Given the description of an element on the screen output the (x, y) to click on. 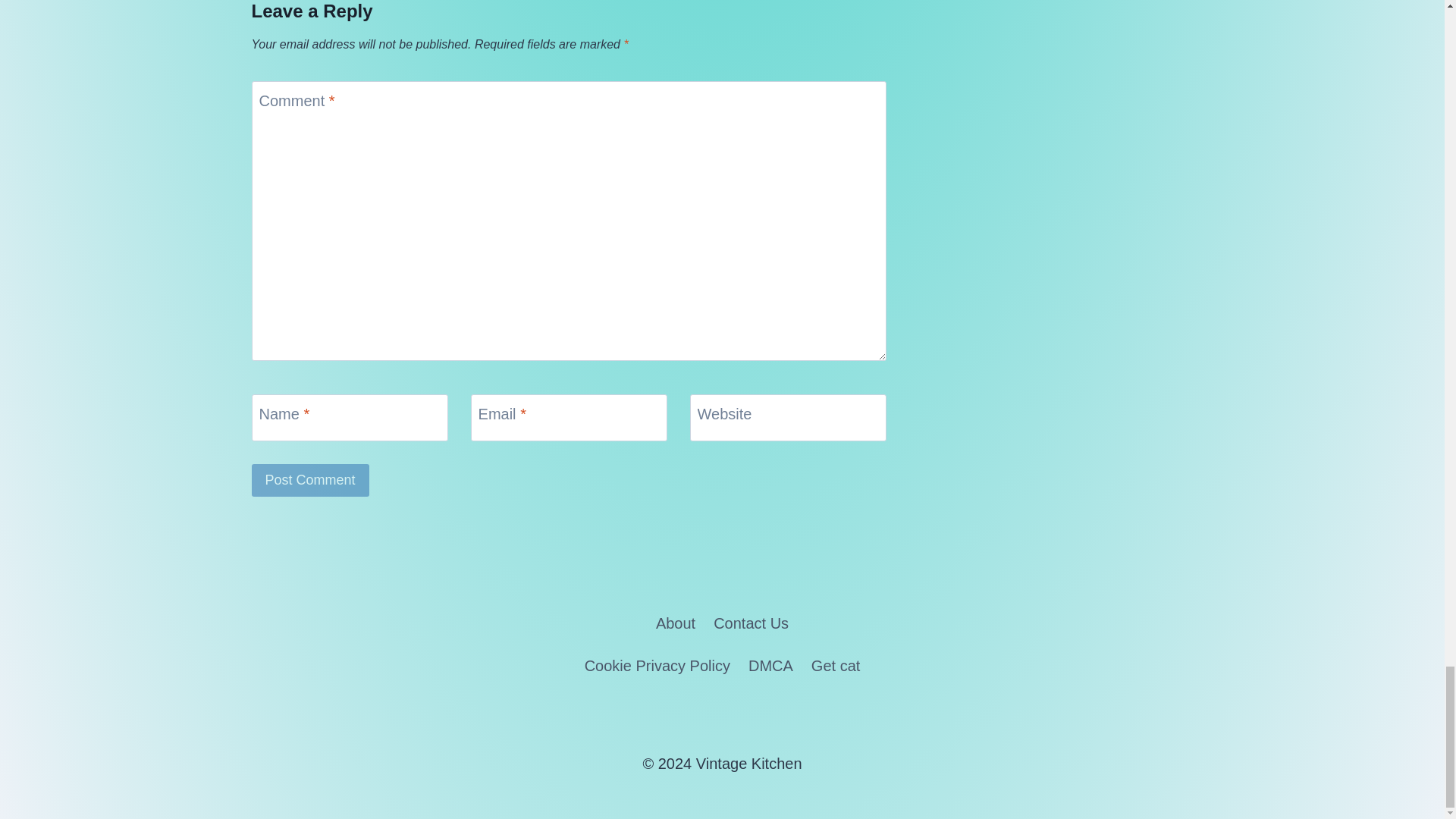
Post Comment (310, 480)
Contact Us (750, 623)
About (675, 623)
Cookie Privacy Policy (657, 665)
Post Comment (310, 480)
DMCA (770, 665)
Get cat (835, 665)
